Given the description of an element on the screen output the (x, y) to click on. 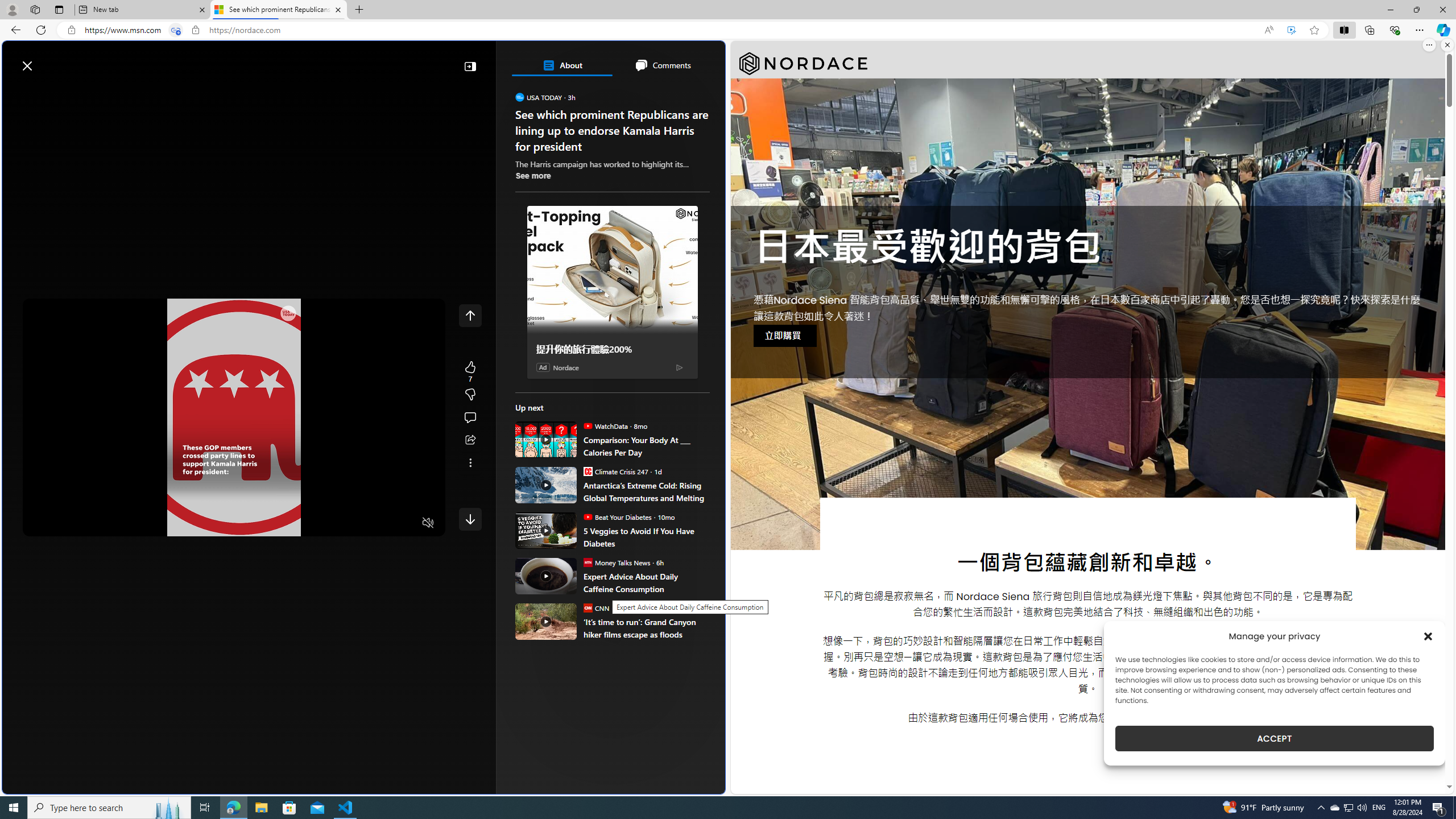
Comparison: Your Body At ___ Calories Per Day (545, 438)
Share this story (469, 440)
About (561, 64)
Seek Forward (85, 523)
Microsoft rewards (654, 60)
Money Talks News (587, 561)
Skip to content (49, 59)
Climate Crisis 247 Climate Crisis 247 (614, 470)
